Given the description of an element on the screen output the (x, y) to click on. 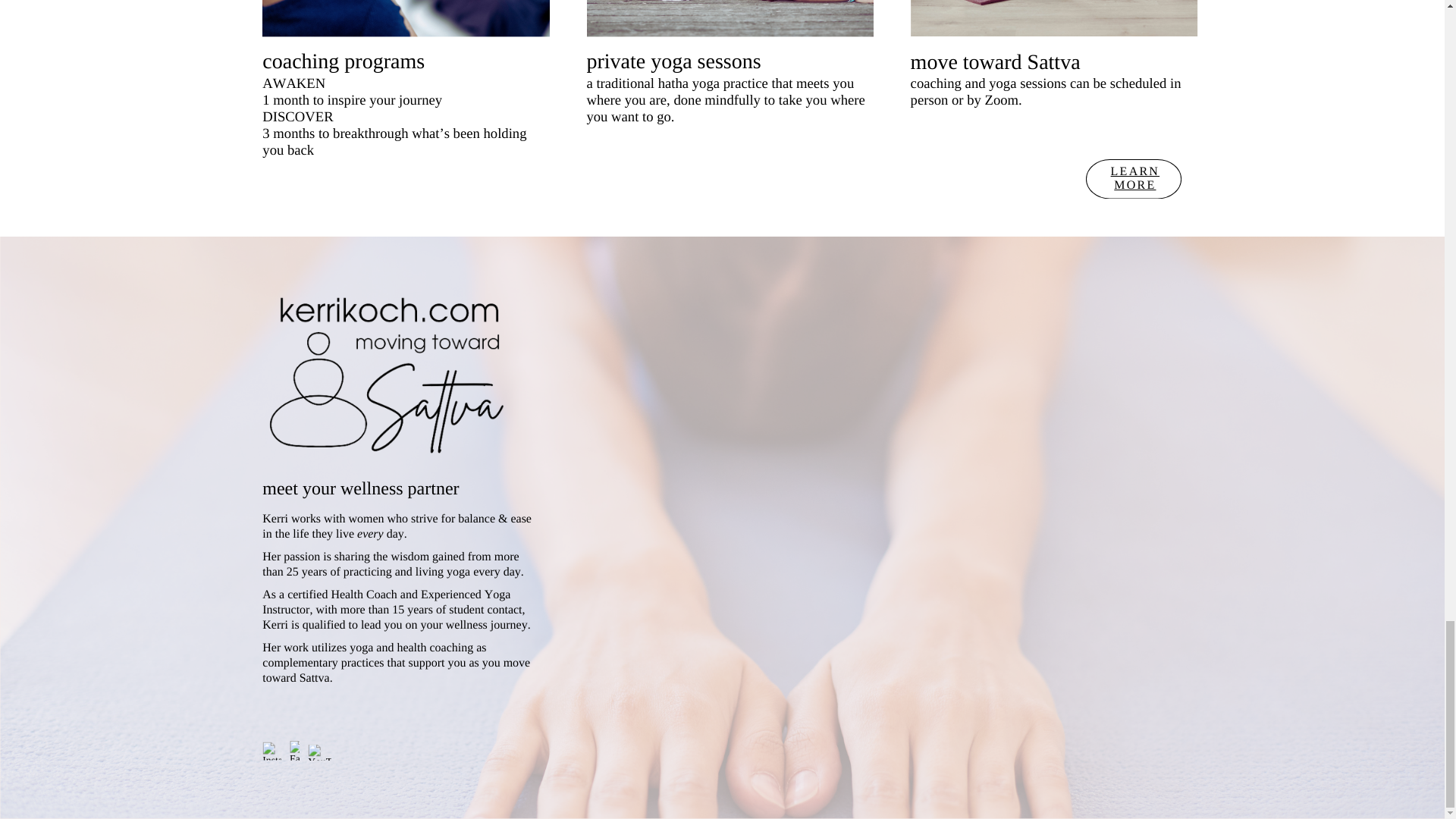
MORE (1134, 185)
LEARN (1135, 171)
